Given the description of an element on the screen output the (x, y) to click on. 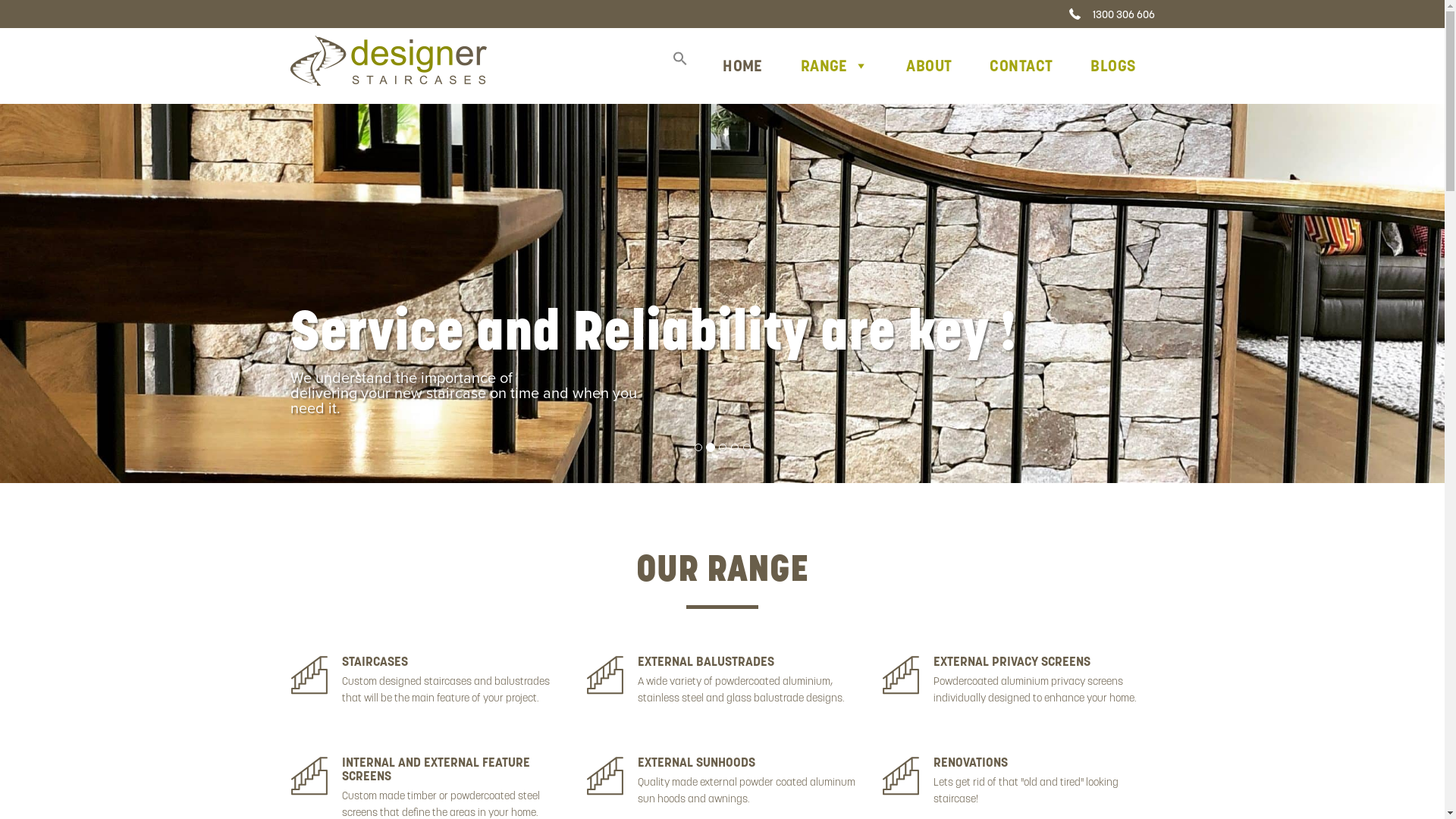
Designer Staircases Element type: text (336, 54)
ABOUT Element type: text (928, 65)
CONTACT Element type: text (1020, 65)
BLOGS Element type: text (1112, 65)
RANGE Element type: text (834, 65)
1300 306 606 Element type: text (1111, 14)
HOME Element type: text (742, 65)
